Given the description of an element on the screen output the (x, y) to click on. 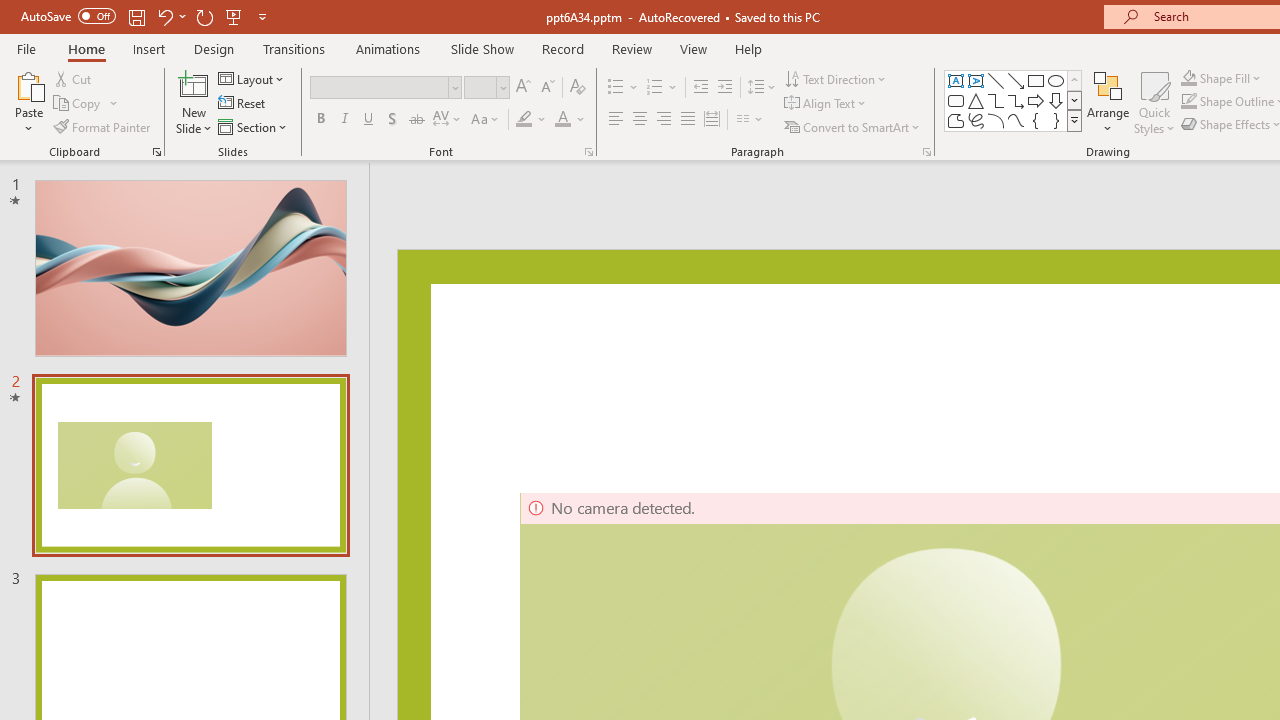
Bold (320, 119)
Paste (28, 84)
Freeform: Shape (955, 120)
Line Arrow (1016, 80)
Animations (388, 48)
Slide (190, 465)
Shape Fill (1221, 78)
Connector: Elbow (995, 100)
More Options (1232, 78)
Distributed (712, 119)
Shape Outline (1188, 101)
Underline (369, 119)
Arrange (1108, 102)
Help (748, 48)
File Tab (26, 48)
